Given the description of an element on the screen output the (x, y) to click on. 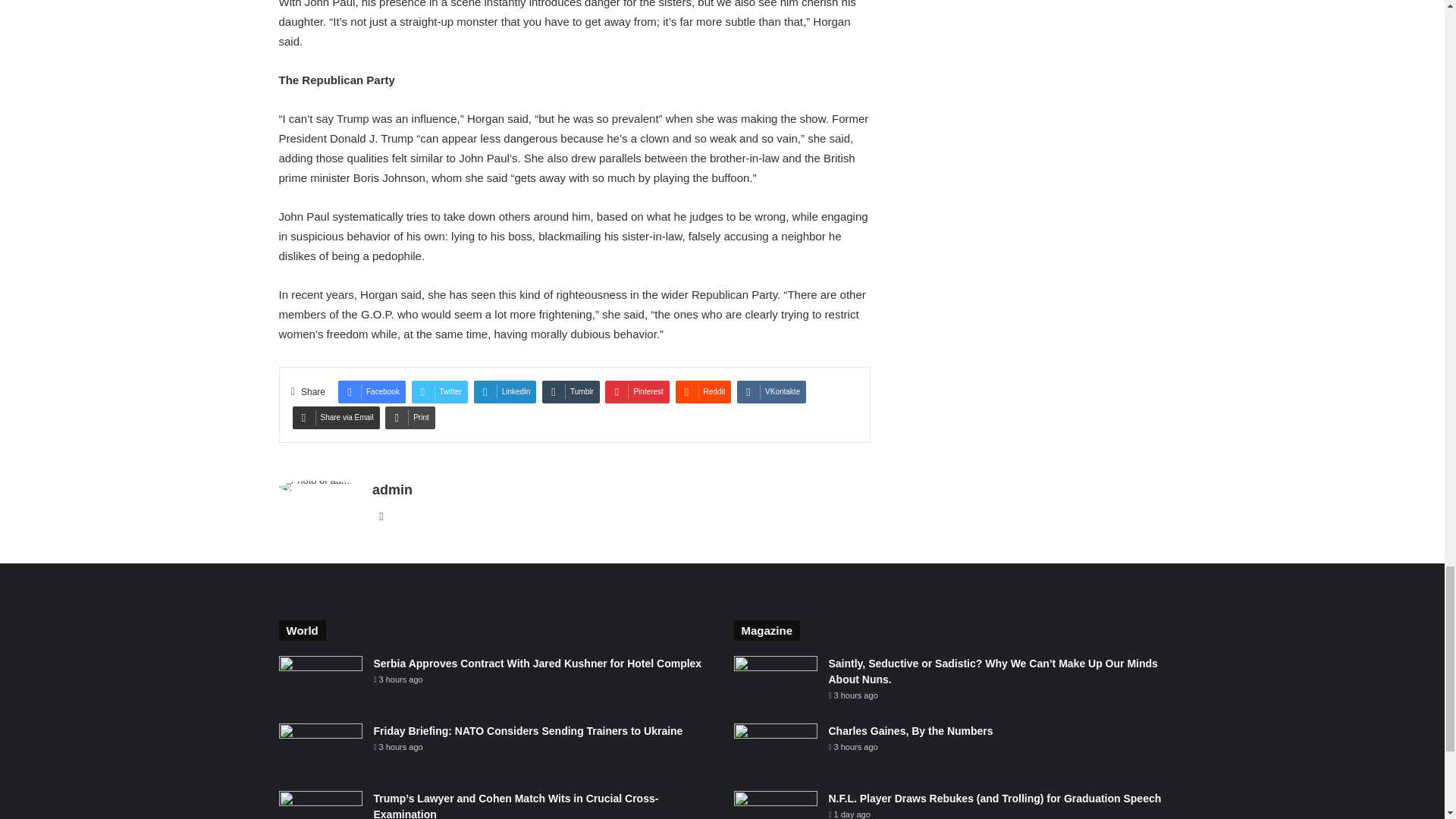
Tumblr (570, 391)
Twitter (439, 391)
Facebook (371, 391)
LinkedIn (505, 391)
Pinterest (636, 391)
